Given the description of an element on the screen output the (x, y) to click on. 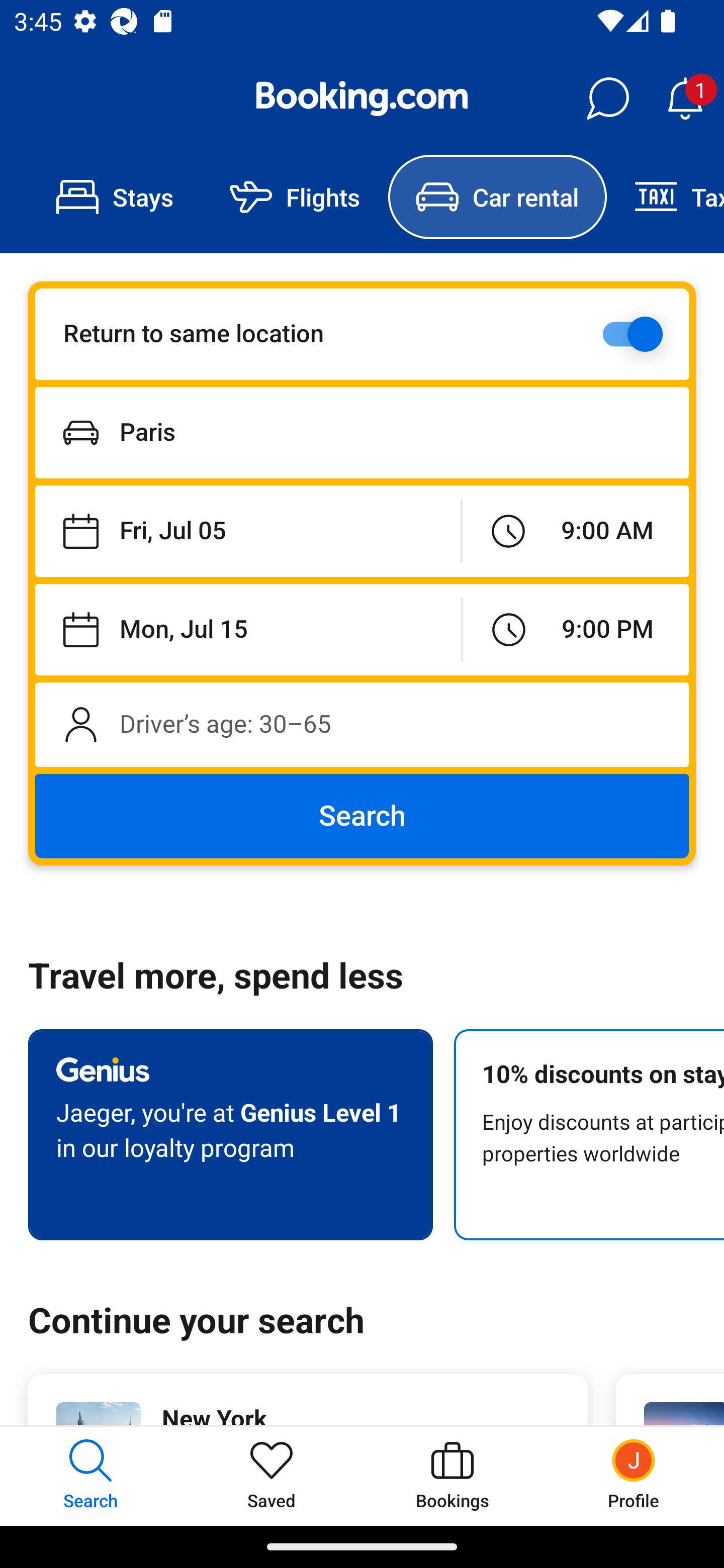
Messages (607, 98)
Notifications (685, 98)
Stays (114, 197)
Flights (294, 197)
Car rental (497, 197)
Taxi (665, 197)
Pick-up location: Text(name=Paris) (361, 432)
Pick-up date: 2024-07-05 (247, 531)
Pick-up time: 09:00:00.000 (575, 531)
Drop-off date: 2024-07-15 (248, 629)
Drop-off time: 21:00:00.000 (575, 629)
Enter the driver's age (361, 724)
Search (361, 815)
Saved (271, 1475)
Bookings (452, 1475)
Profile (633, 1475)
